Given the description of an element on the screen output the (x, y) to click on. 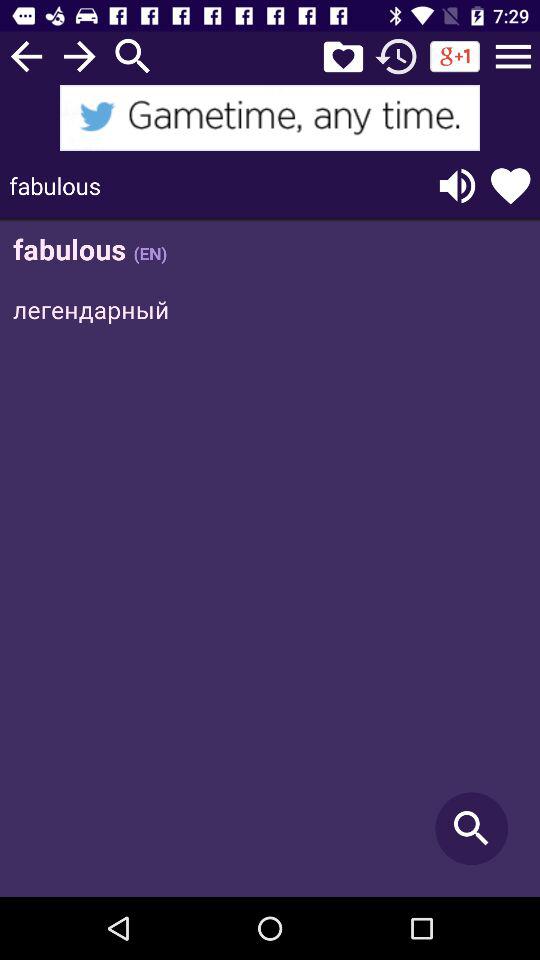
go forward option (79, 56)
